Given the description of an element on the screen output the (x, y) to click on. 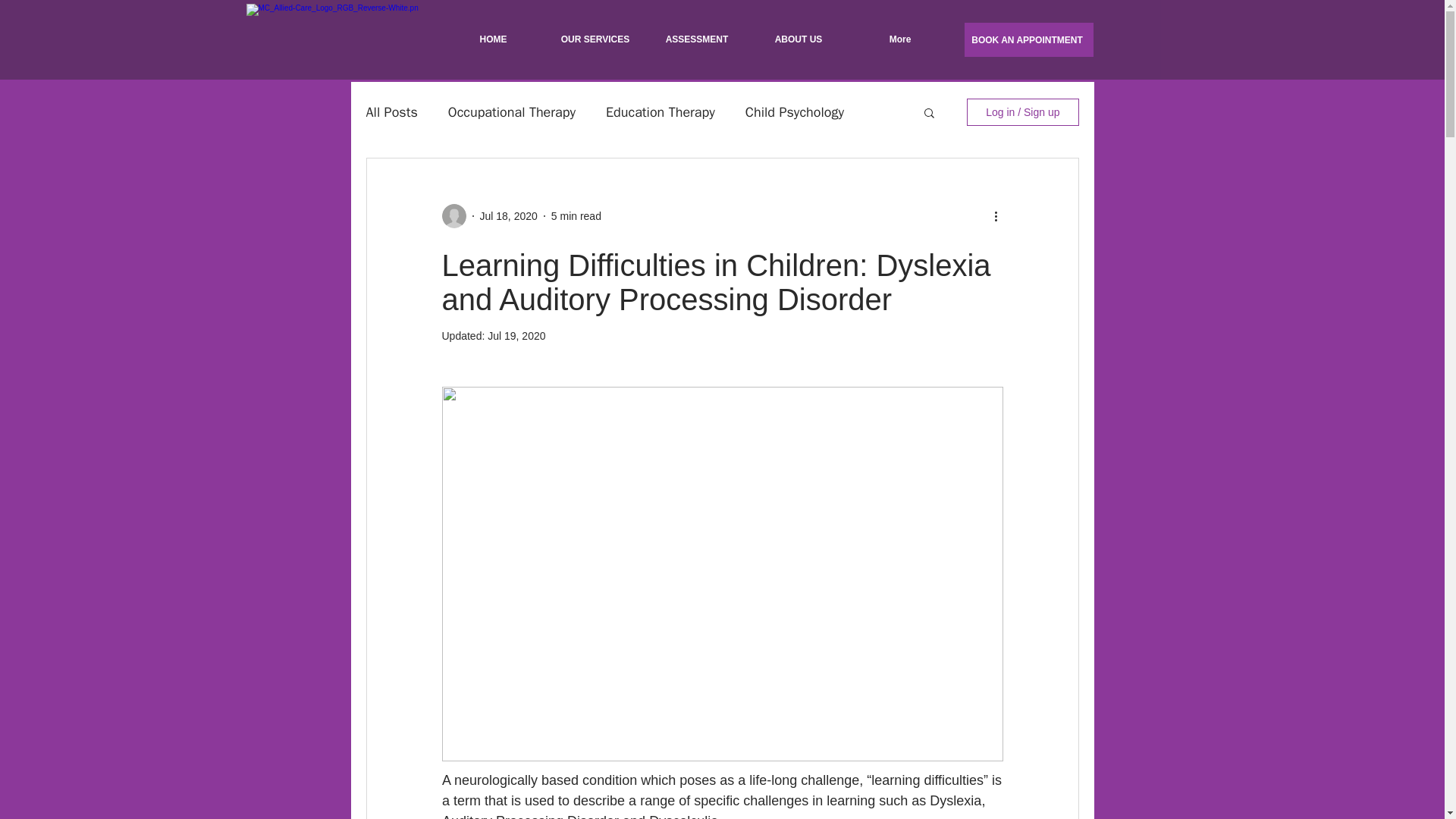
Occupational Therapy (511, 112)
5 min read (576, 215)
ASSESSMENT (697, 39)
OUR SERVICES (595, 39)
Education Therapy (659, 112)
Jul 19, 2020 (515, 336)
MindChamps-Allied-Care-LOGO-20.png (337, 38)
Child Psychology (794, 112)
BOOK AN APPOINTMENT (1028, 39)
HOME (493, 39)
